Given the description of an element on the screen output the (x, y) to click on. 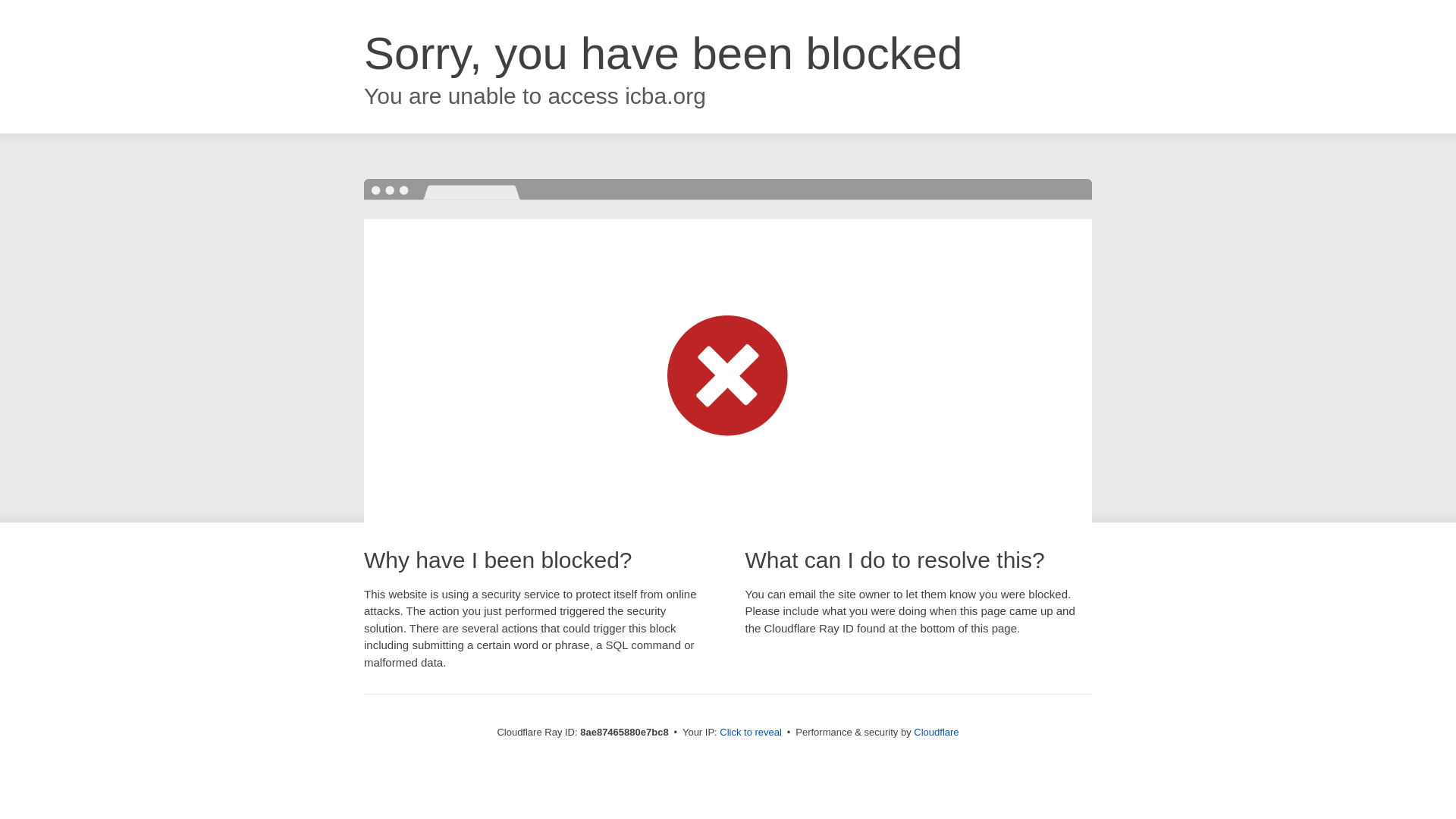
Cloudflare (936, 731)
Click to reveal (750, 732)
